Given the description of an element on the screen output the (x, y) to click on. 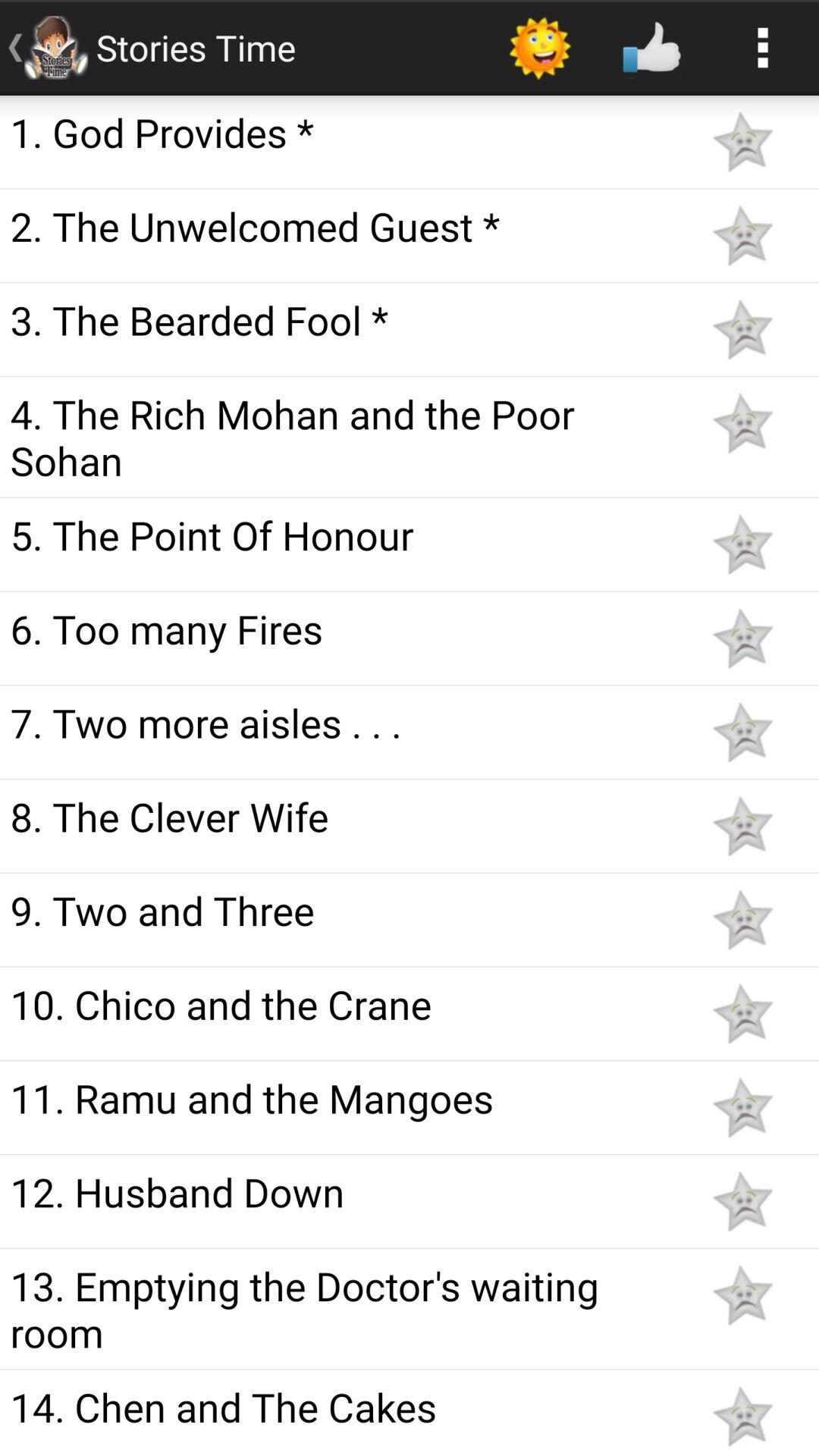
add to favorite stories (742, 235)
